Given the description of an element on the screen output the (x, y) to click on. 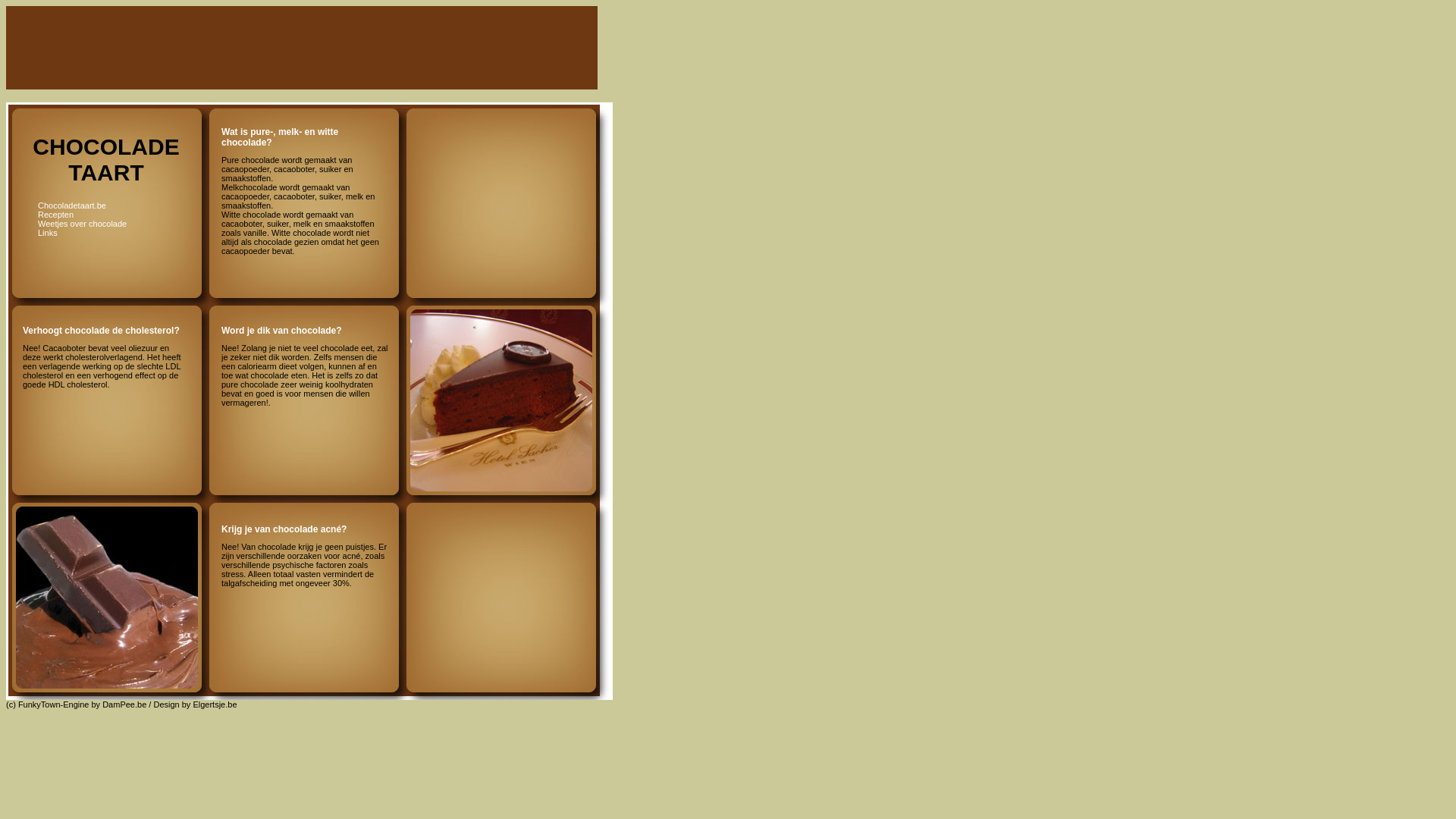
Recepten Element type: text (55, 214)
Elgertsje.be Element type: text (214, 704)
Weetjes over chocolade Element type: text (81, 223)
Advertisement Element type: hover (316, 49)
DamPee.be Element type: text (124, 704)
Chocoladetaart.be Element type: text (71, 205)
Advertisement Element type: hover (495, 153)
Links Element type: text (47, 232)
